Given the description of an element on the screen output the (x, y) to click on. 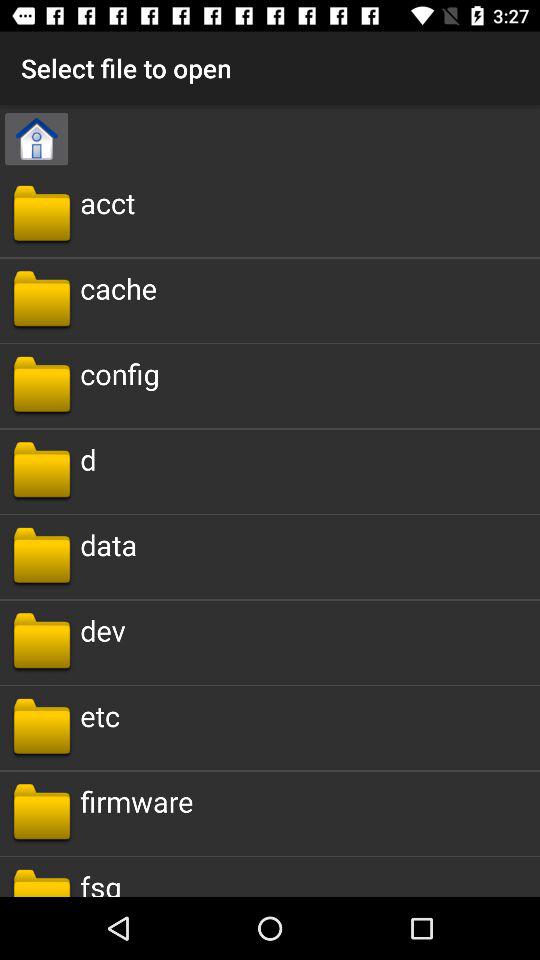
select the item below dev icon (100, 715)
